Given the description of an element on the screen output the (x, y) to click on. 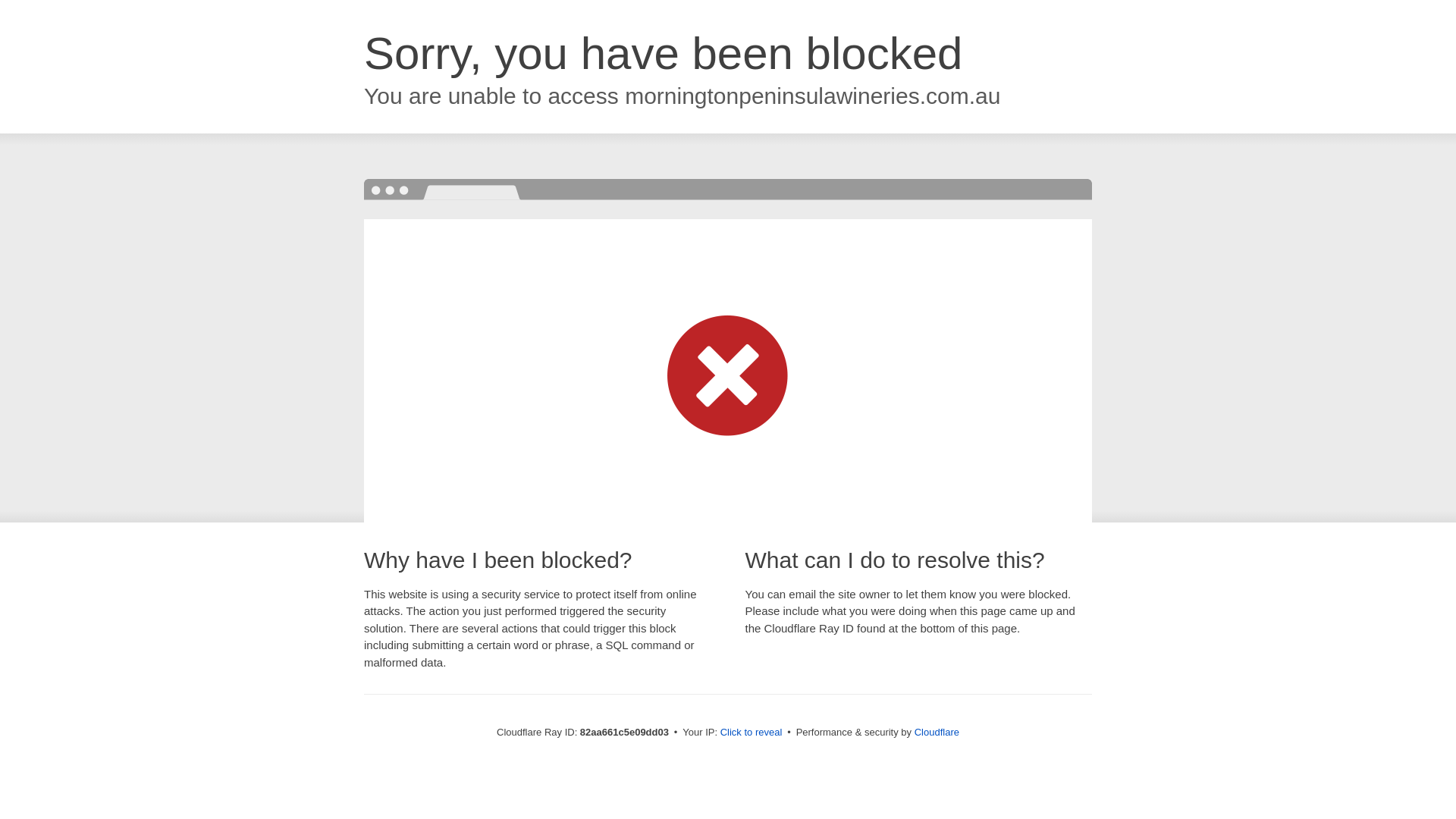
Click to reveal Element type: text (751, 732)
Cloudflare Element type: text (936, 731)
